Given the description of an element on the screen output the (x, y) to click on. 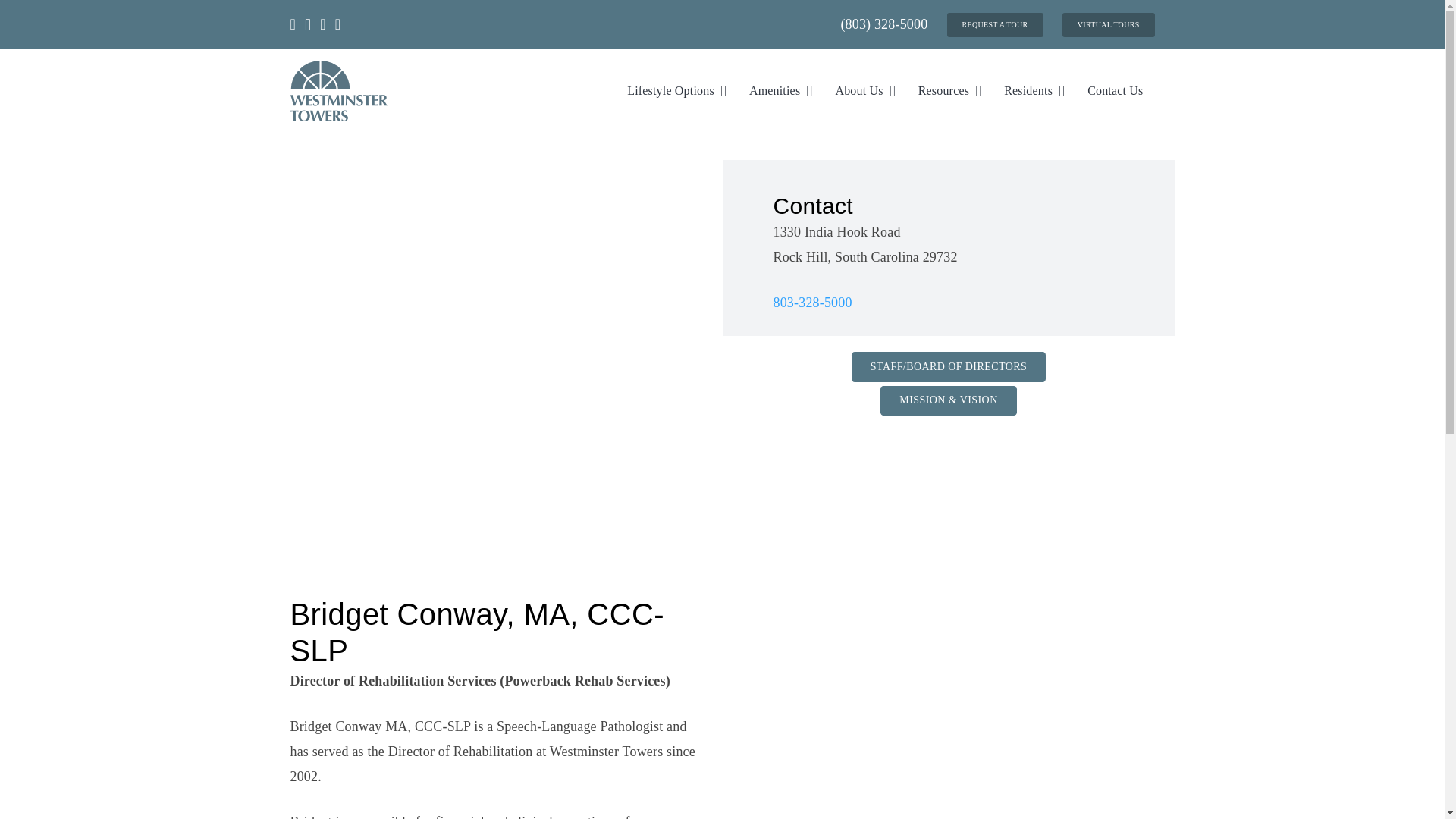
Lifestyle Options (676, 90)
Resources (949, 90)
VIRTUAL TOURS (1108, 24)
Amenities (781, 90)
Contact Us (1114, 90)
REQUEST A TOUR (995, 24)
About Us (864, 90)
803-328-5000 (812, 302)
Residents (1033, 90)
